Given the description of an element on the screen output the (x, y) to click on. 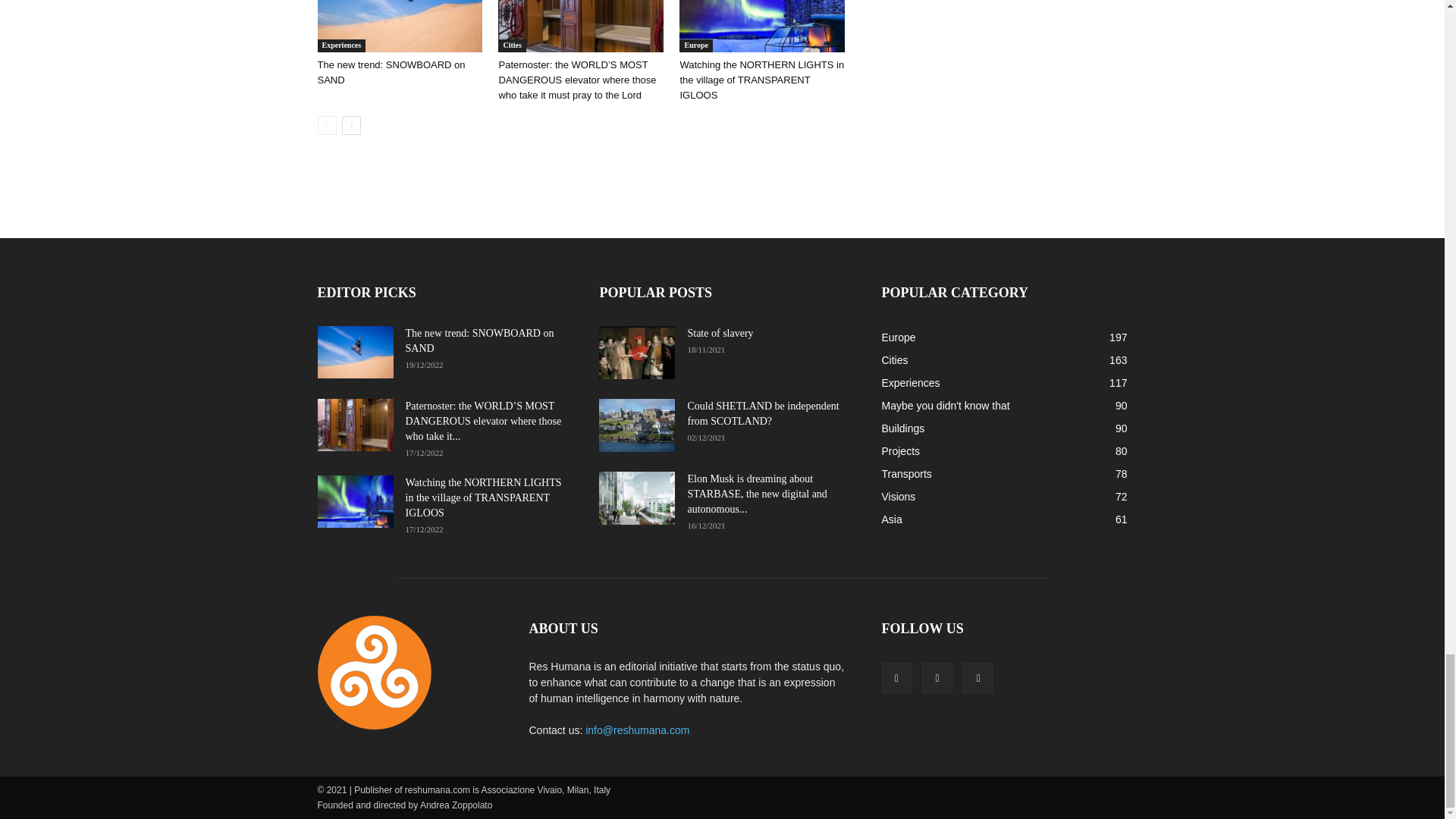
The new trend: SNOWBOARD on SAND (390, 71)
The new trend: SNOWBOARD on SAND (399, 26)
